Given the description of an element on the screen output the (x, y) to click on. 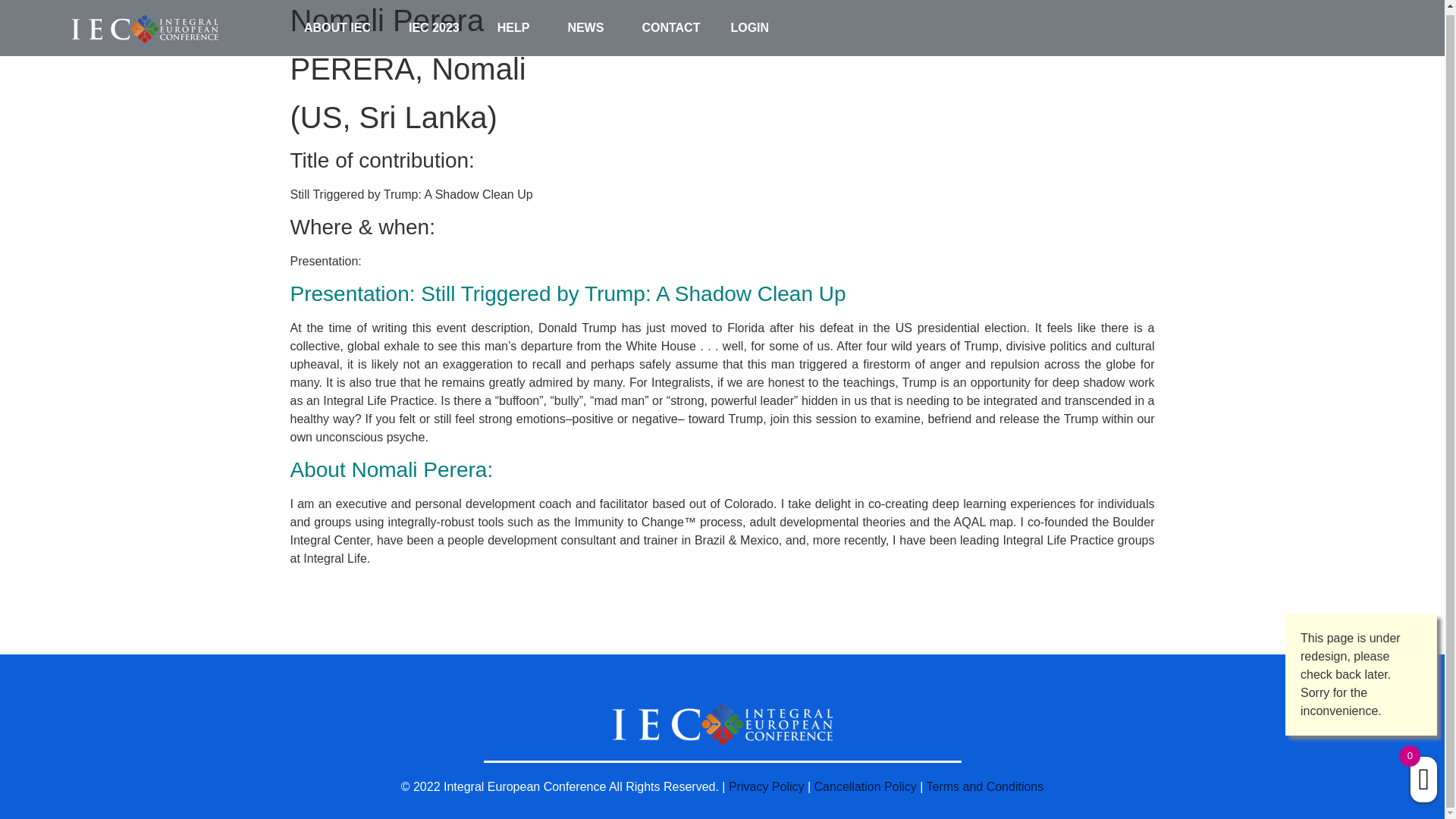
HELP (517, 23)
IEC 2023 (437, 23)
CONTACT (670, 23)
ABOUT IEC (340, 23)
NEWS (588, 23)
LOGIN (749, 23)
